Given the description of an element on the screen output the (x, y) to click on. 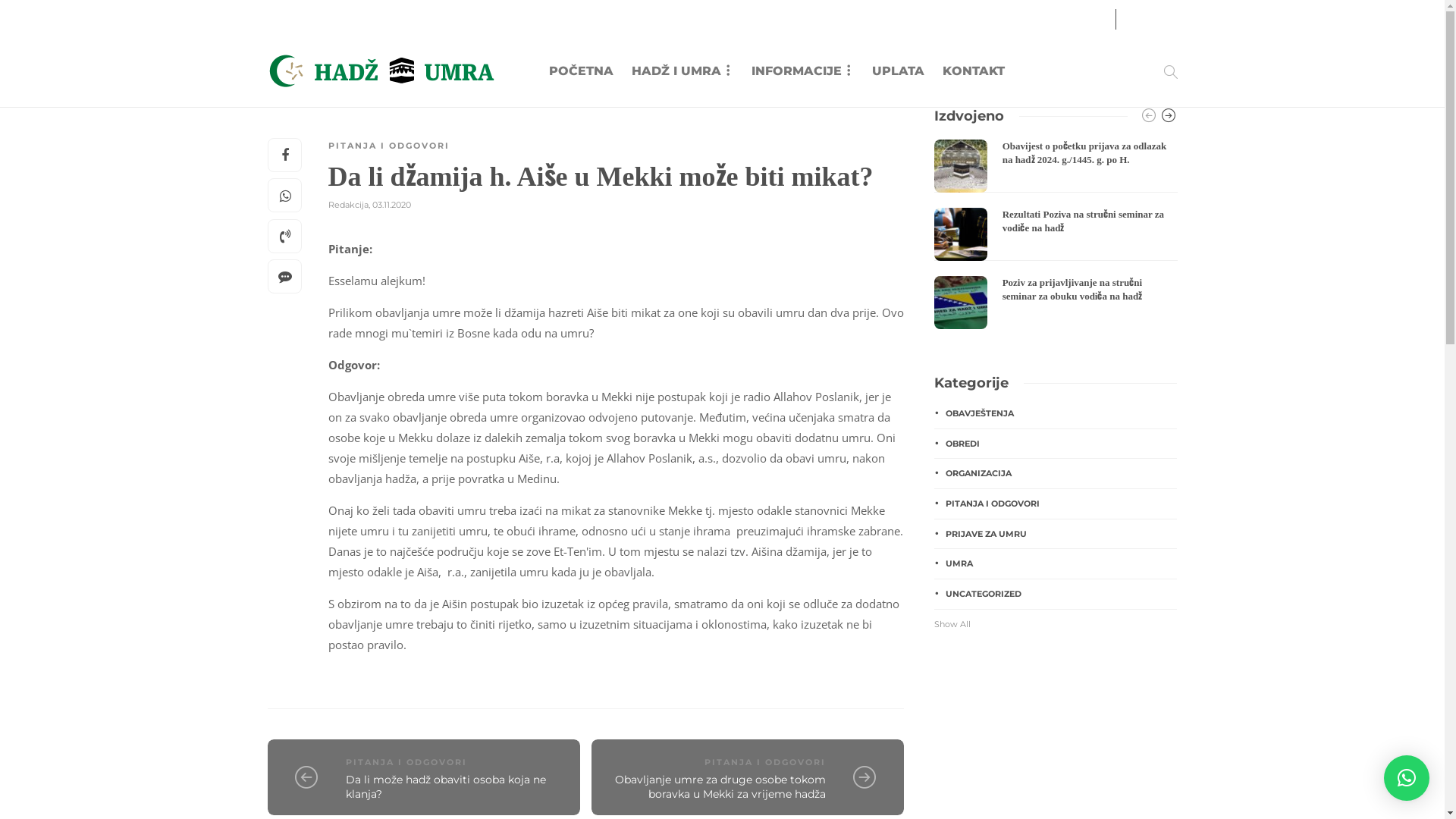
PITANJA I ODGOVORI Element type: text (387, 145)
PITANJA I ODGOVORI Element type: text (764, 761)
UMRA Element type: text (1055, 563)
ORGANIZACIJA Element type: text (1055, 473)
PRIJAVE ZA UMRU Element type: text (1055, 534)
PITANJA I ODGOVORI Element type: text (406, 761)
INFORMACIJE Element type: text (802, 70)
KONTAKT Element type: text (973, 70)
Redakcija Element type: text (347, 204)
03.11.2020 Element type: text (390, 204)
UPLATA Element type: text (898, 70)
Asign menu Element type: text (305, 17)
UNCATEGORIZED Element type: text (1055, 593)
PITANJA I ODGOVORI Element type: text (1055, 503)
OBREDI Element type: text (1055, 443)
